Given the description of an element on the screen output the (x, y) to click on. 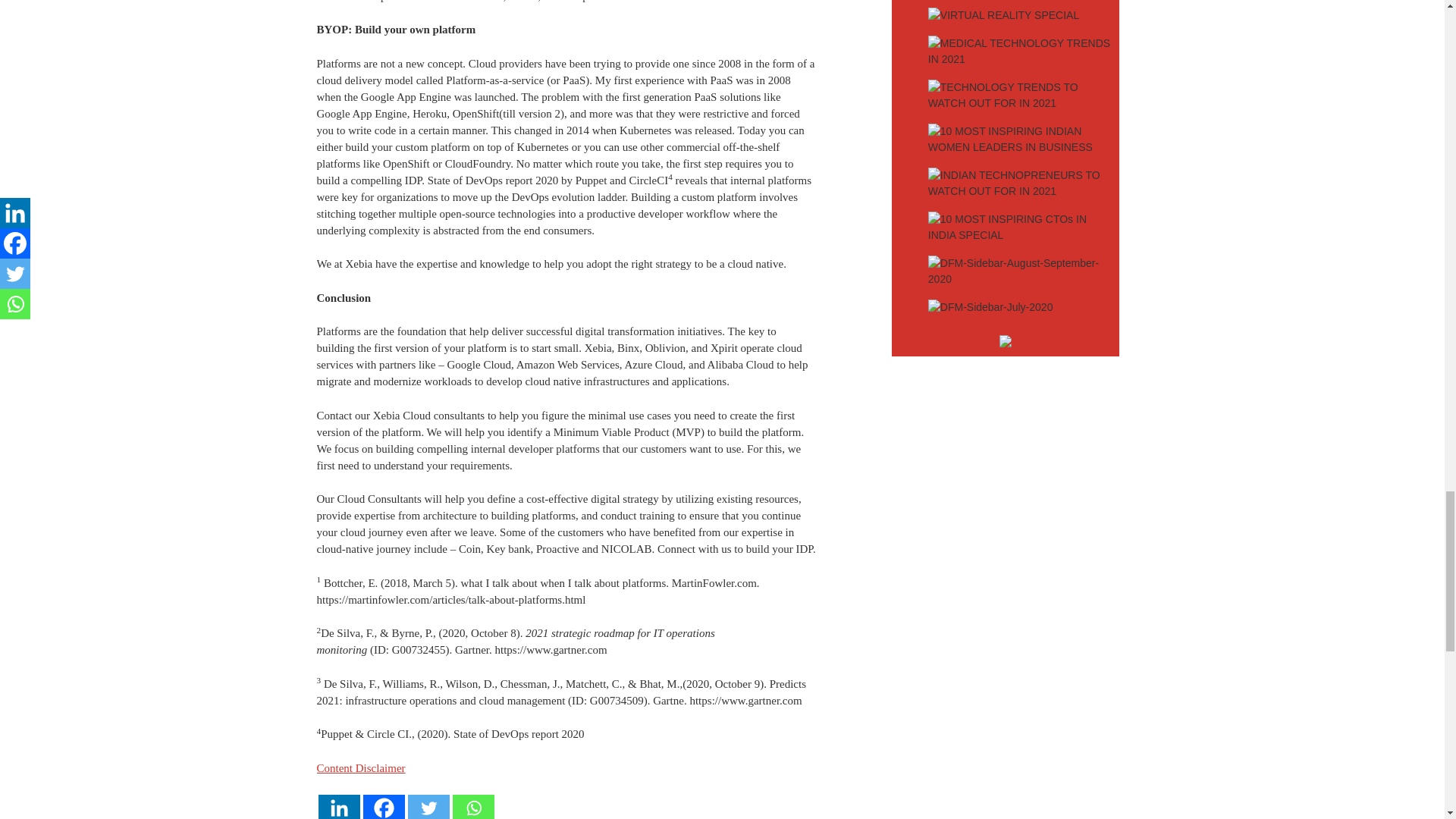
Facebook (383, 806)
Whatsapp (472, 806)
Linkedin (338, 806)
Twitter (428, 806)
